Given the description of an element on the screen output the (x, y) to click on. 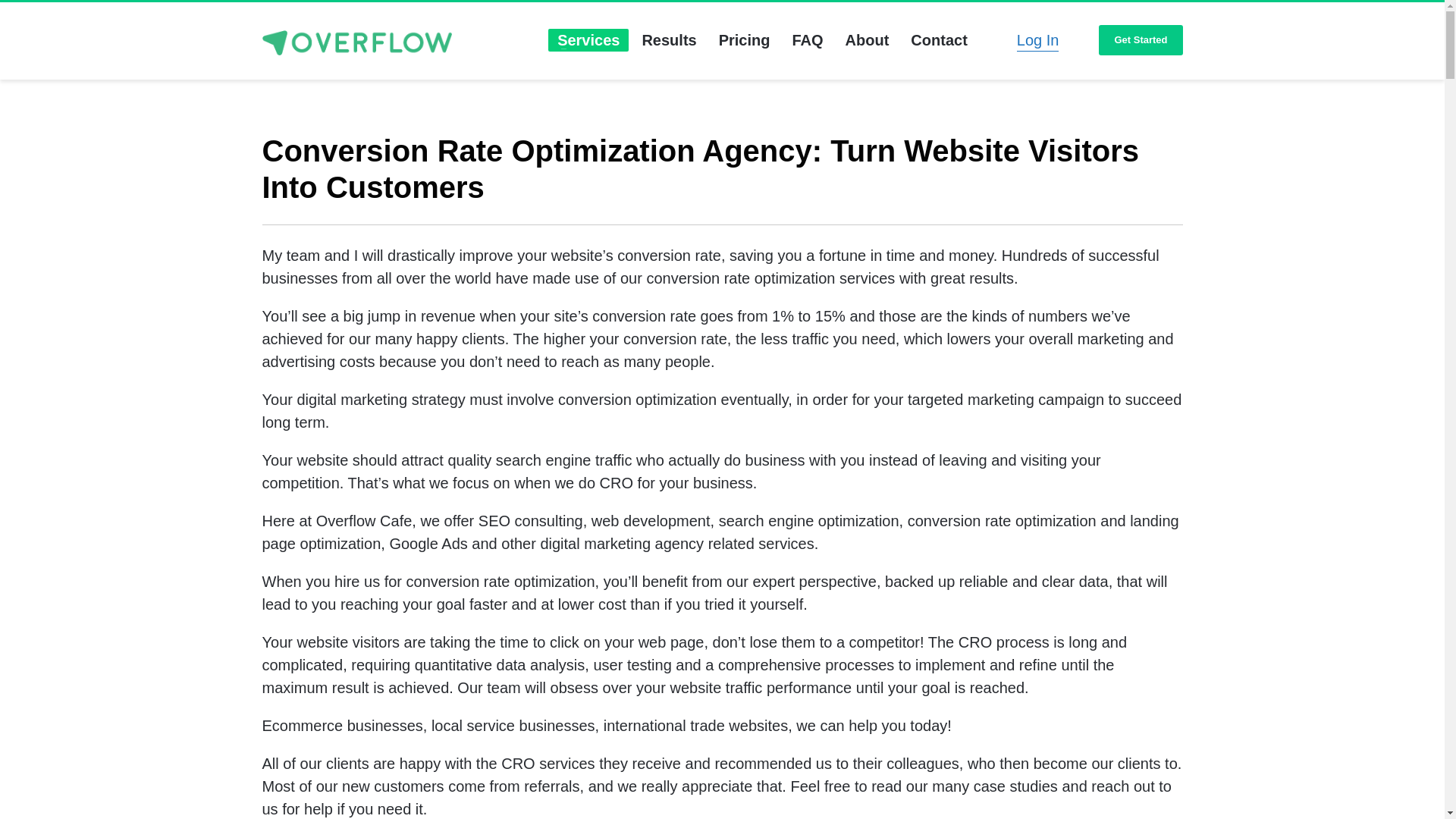
FAQ (807, 40)
Contact (938, 40)
Pricing (744, 40)
Results (667, 40)
Log In (1037, 40)
Get Started (1140, 40)
About (866, 40)
Digital Marketing Agency Toronto (356, 42)
Log In (1037, 40)
Services (588, 40)
